Given the description of an element on the screen output the (x, y) to click on. 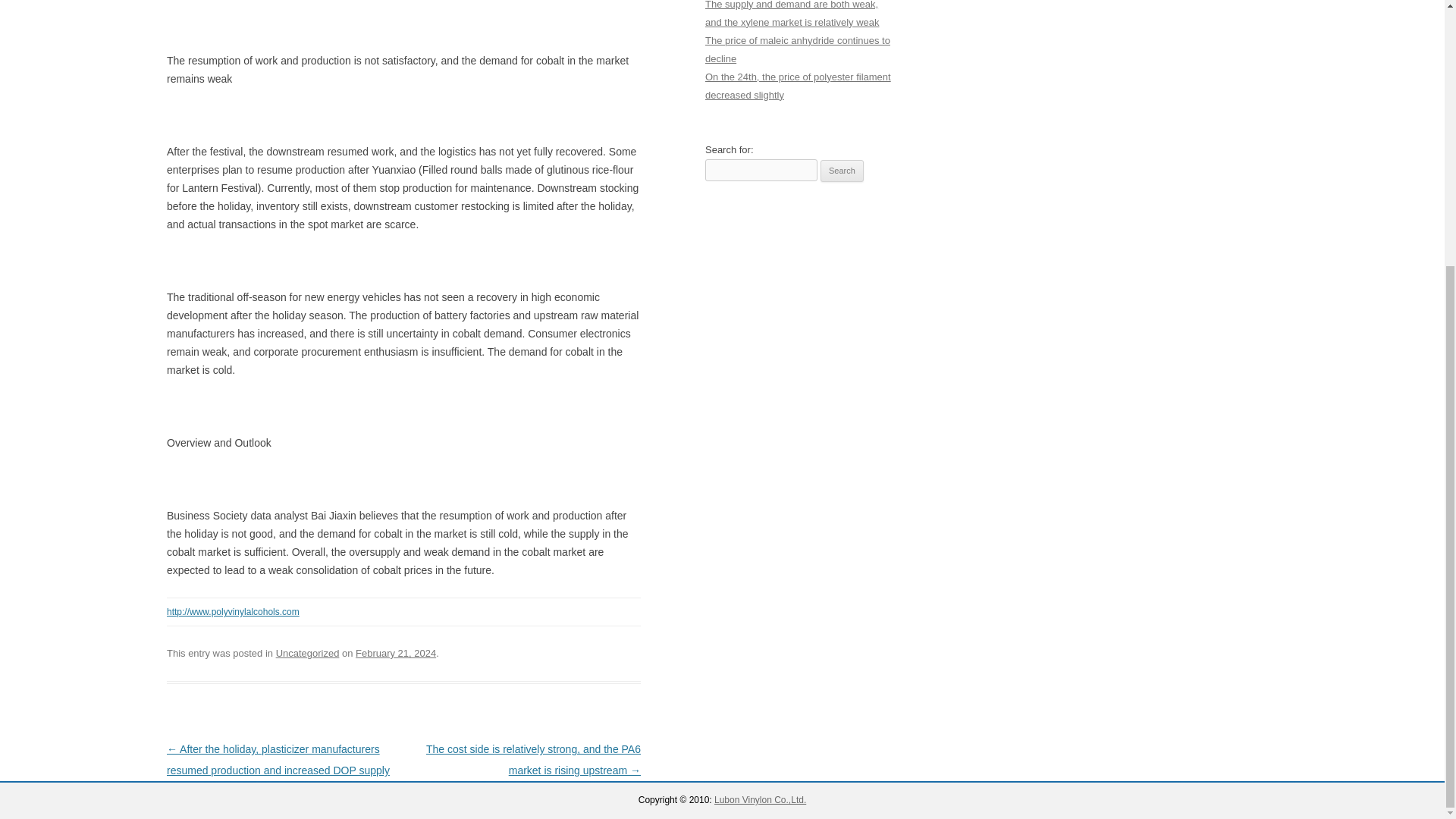
Search (842, 170)
February 21, 2024 (395, 653)
3:32 am (395, 653)
View all posts in Uncategorized (307, 653)
The price of maleic anhydride continues to decline (796, 49)
The price of maleic anhydride continues to decline (796, 49)
Uncategorized (307, 653)
Lubon Vinylon Co.,Ltd. (760, 799)
Search (842, 170)
